Given the description of an element on the screen output the (x, y) to click on. 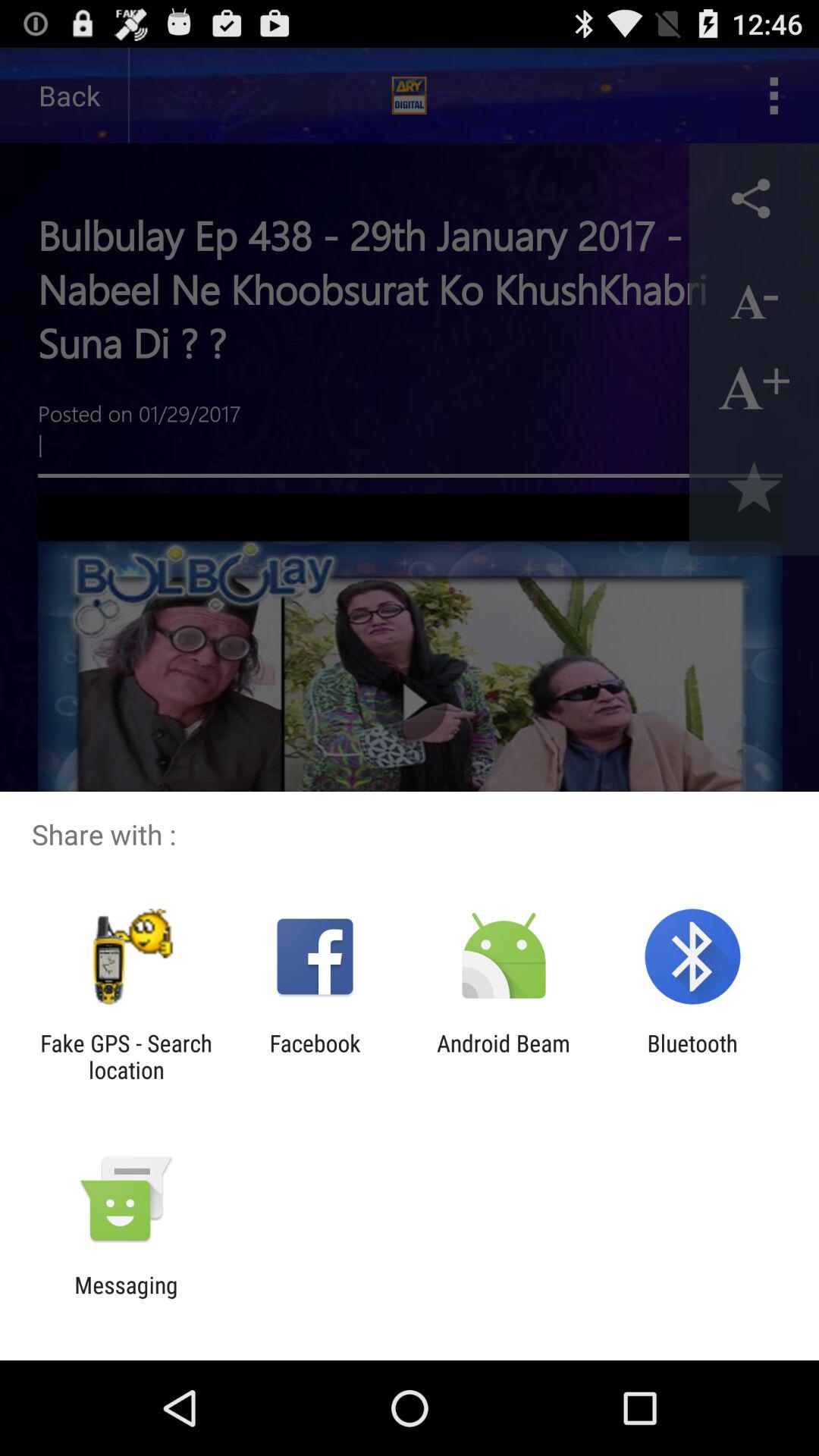
tap app to the left of the android beam (314, 1056)
